Given the description of an element on the screen output the (x, y) to click on. 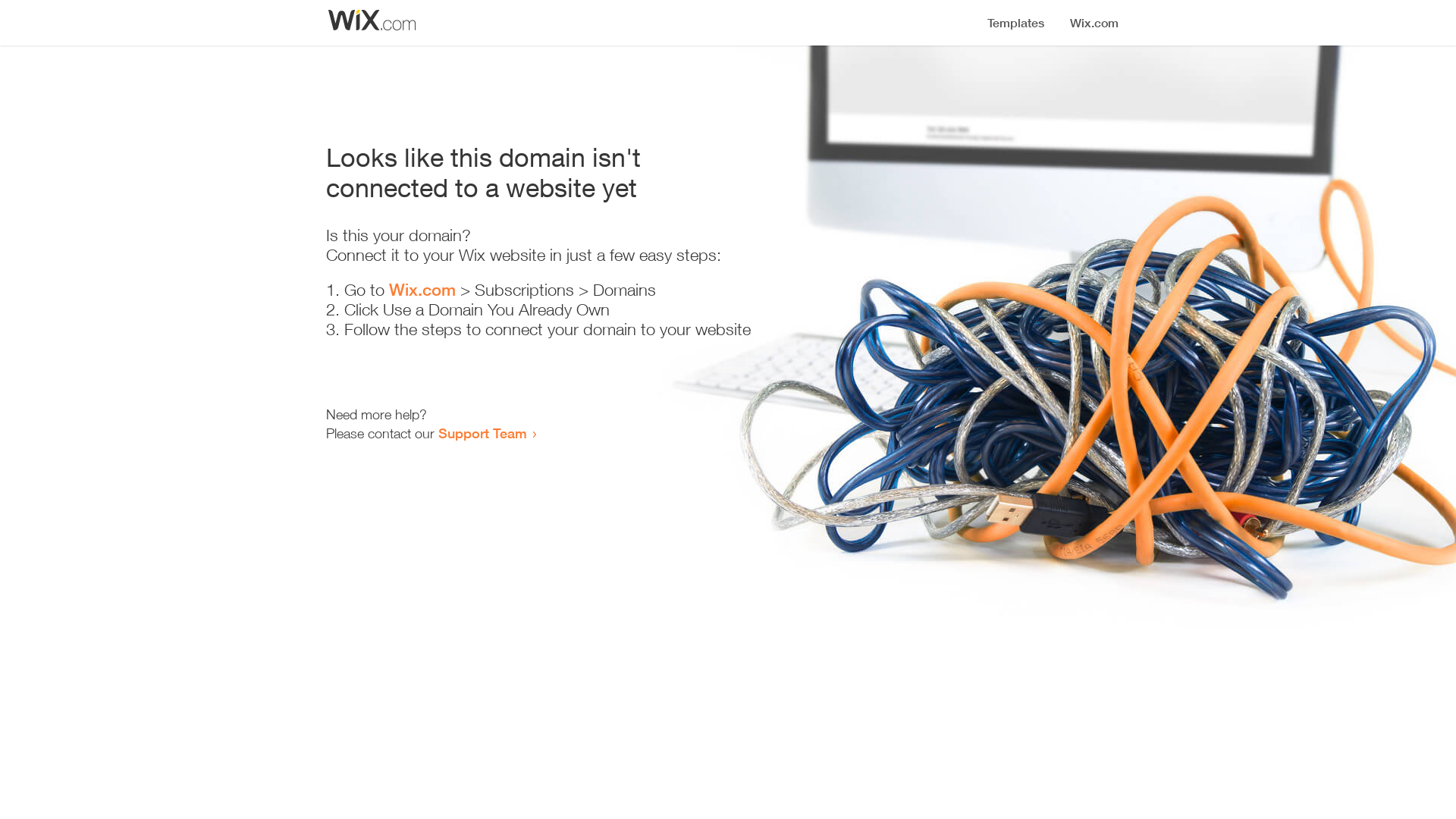
Support Team Element type: text (482, 432)
Wix.com Element type: text (422, 289)
